Given the description of an element on the screen output the (x, y) to click on. 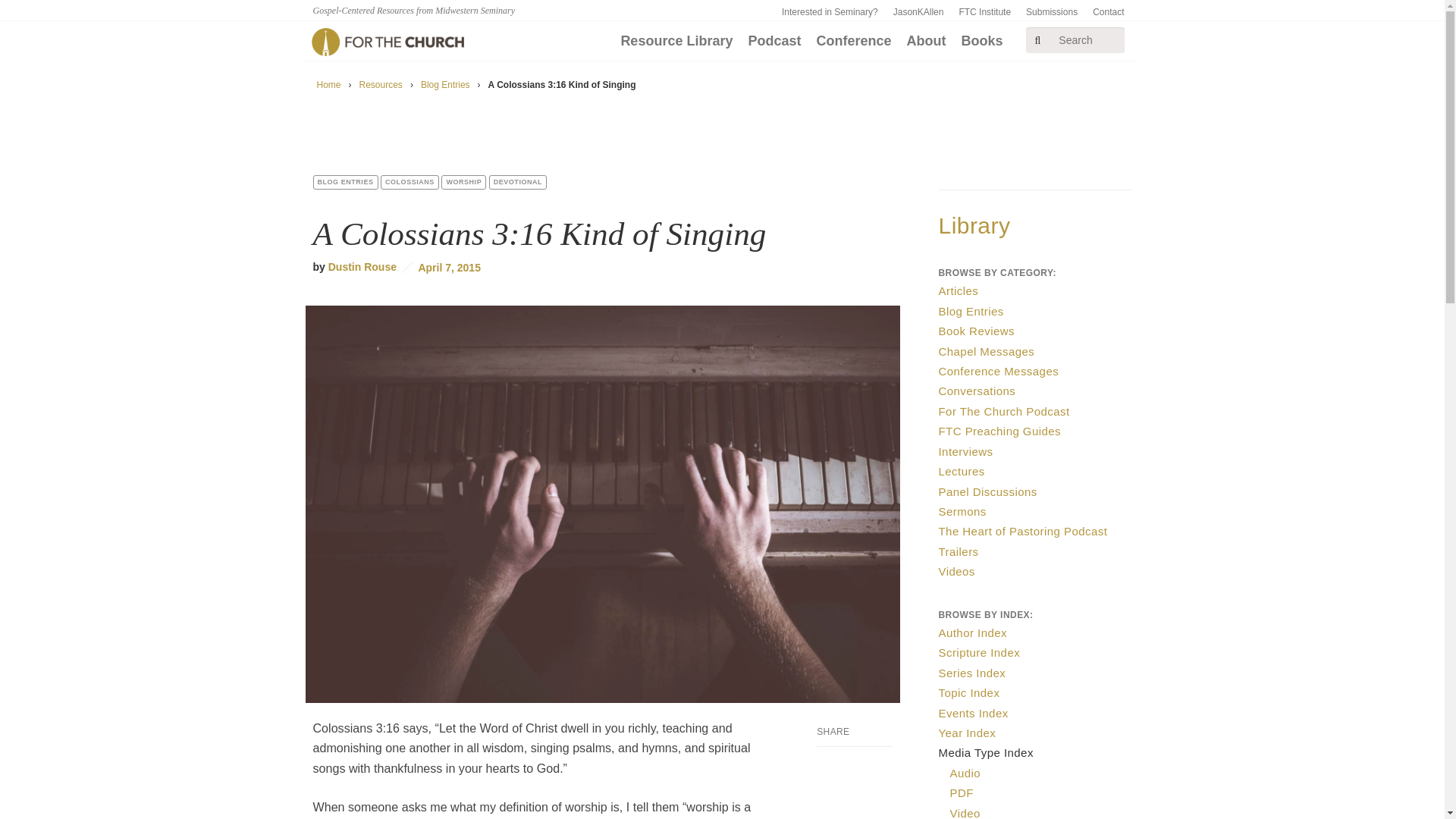
Lectures (962, 471)
BLOG ENTRIES (345, 182)
Conversations (977, 390)
Podcast (773, 40)
Resource Library (675, 40)
Submissions (1050, 12)
Sermons (963, 511)
Book Reviews (976, 330)
The Heart of Pastoring Podcast (1023, 530)
Home (328, 84)
